Given the description of an element on the screen output the (x, y) to click on. 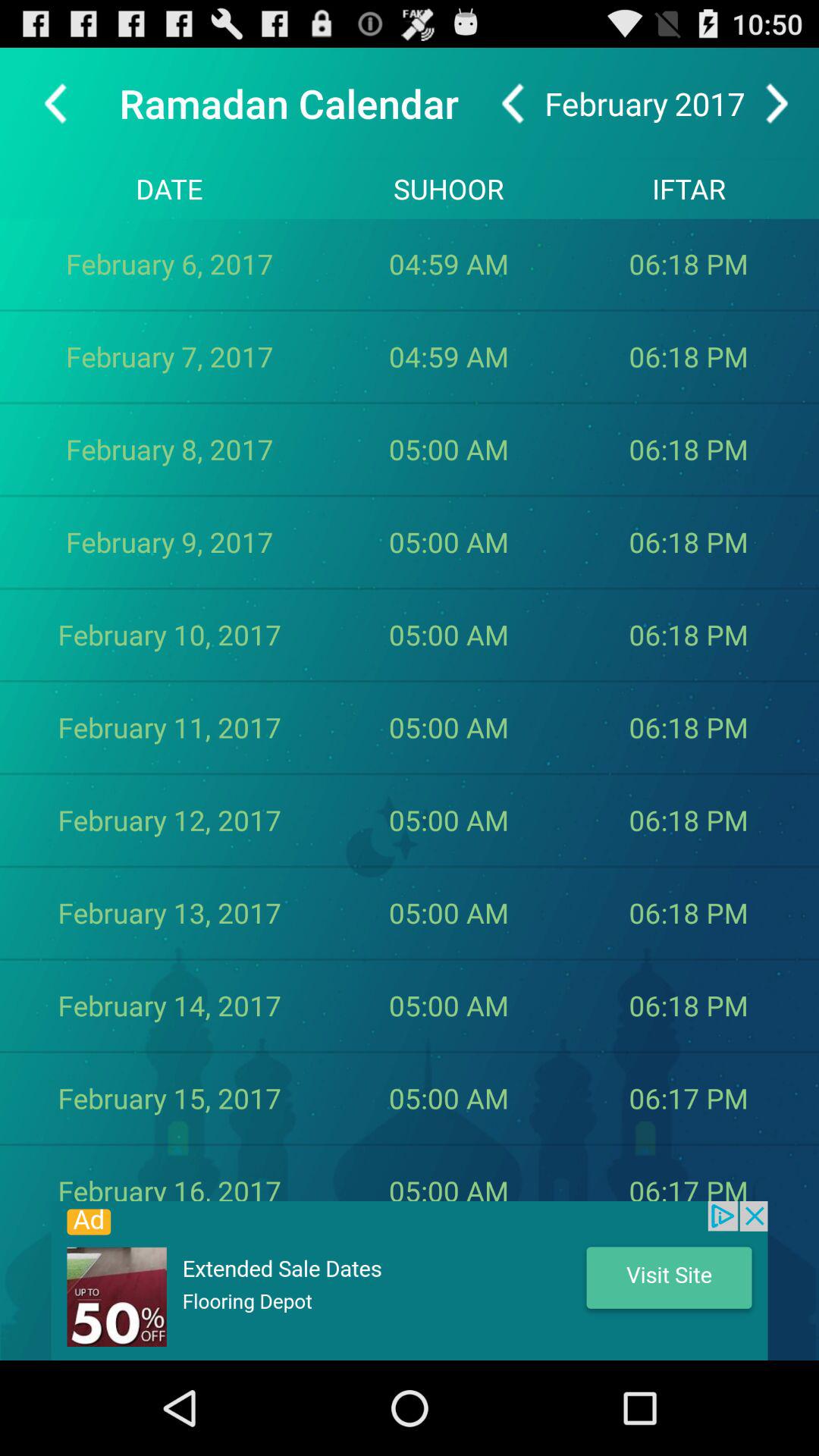
go to next (776, 103)
